Given the description of an element on the screen output the (x, y) to click on. 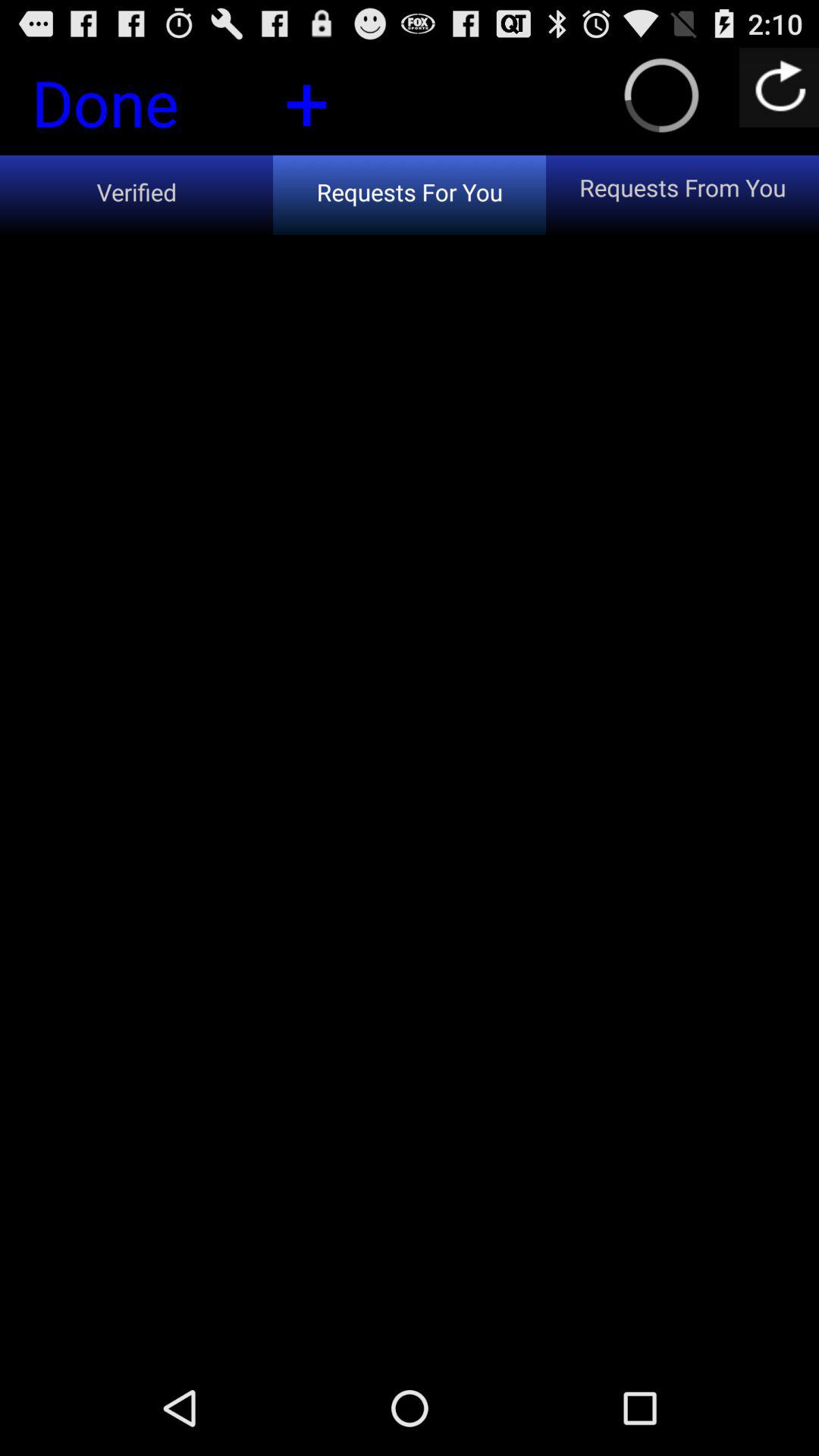
press the item above the requests from you icon (779, 87)
